Given the description of an element on the screen output the (x, y) to click on. 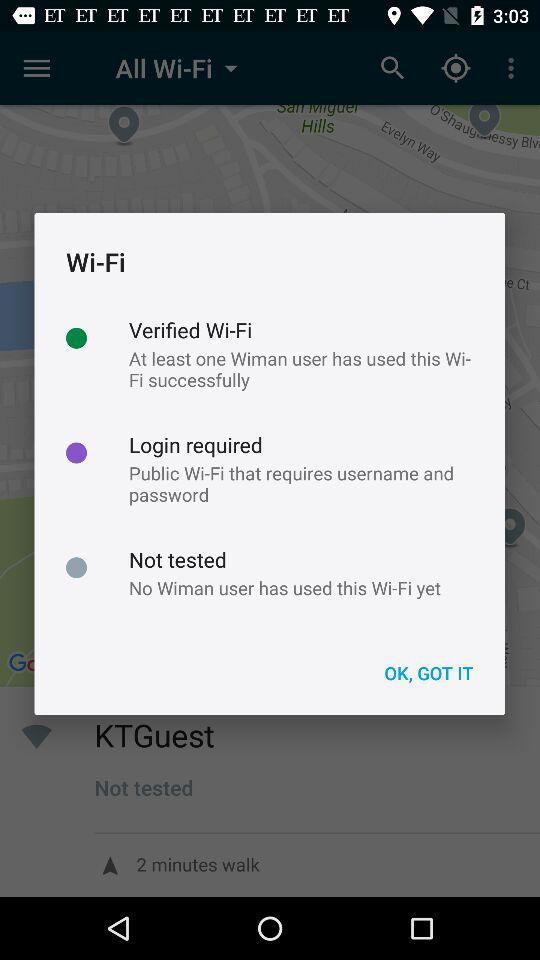
turn off ok, got it at the bottom right corner (428, 672)
